Given the description of an element on the screen output the (x, y) to click on. 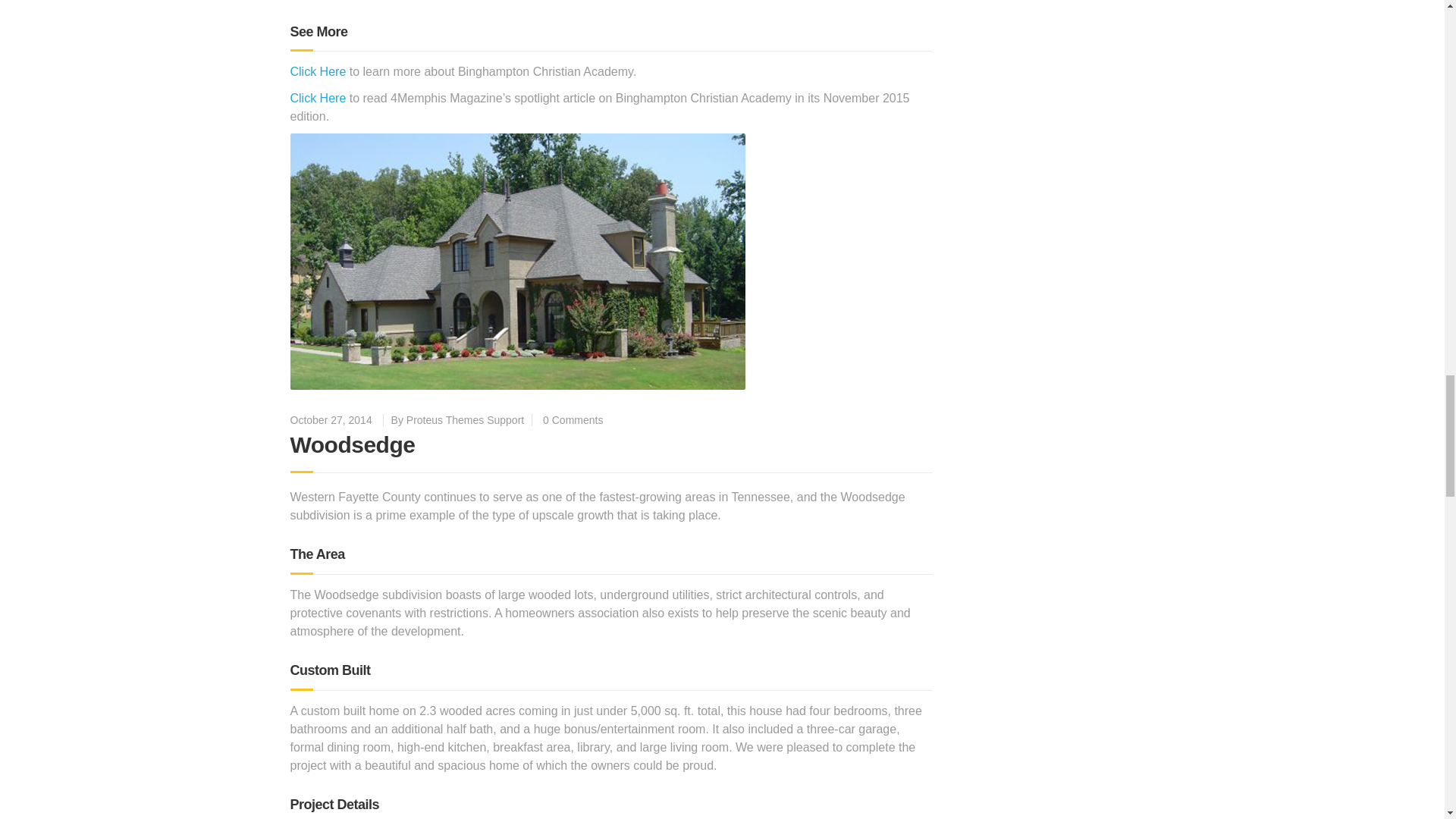
0 Comments (572, 419)
Click Here (317, 97)
Click Here (317, 71)
